Given the description of an element on the screen output the (x, y) to click on. 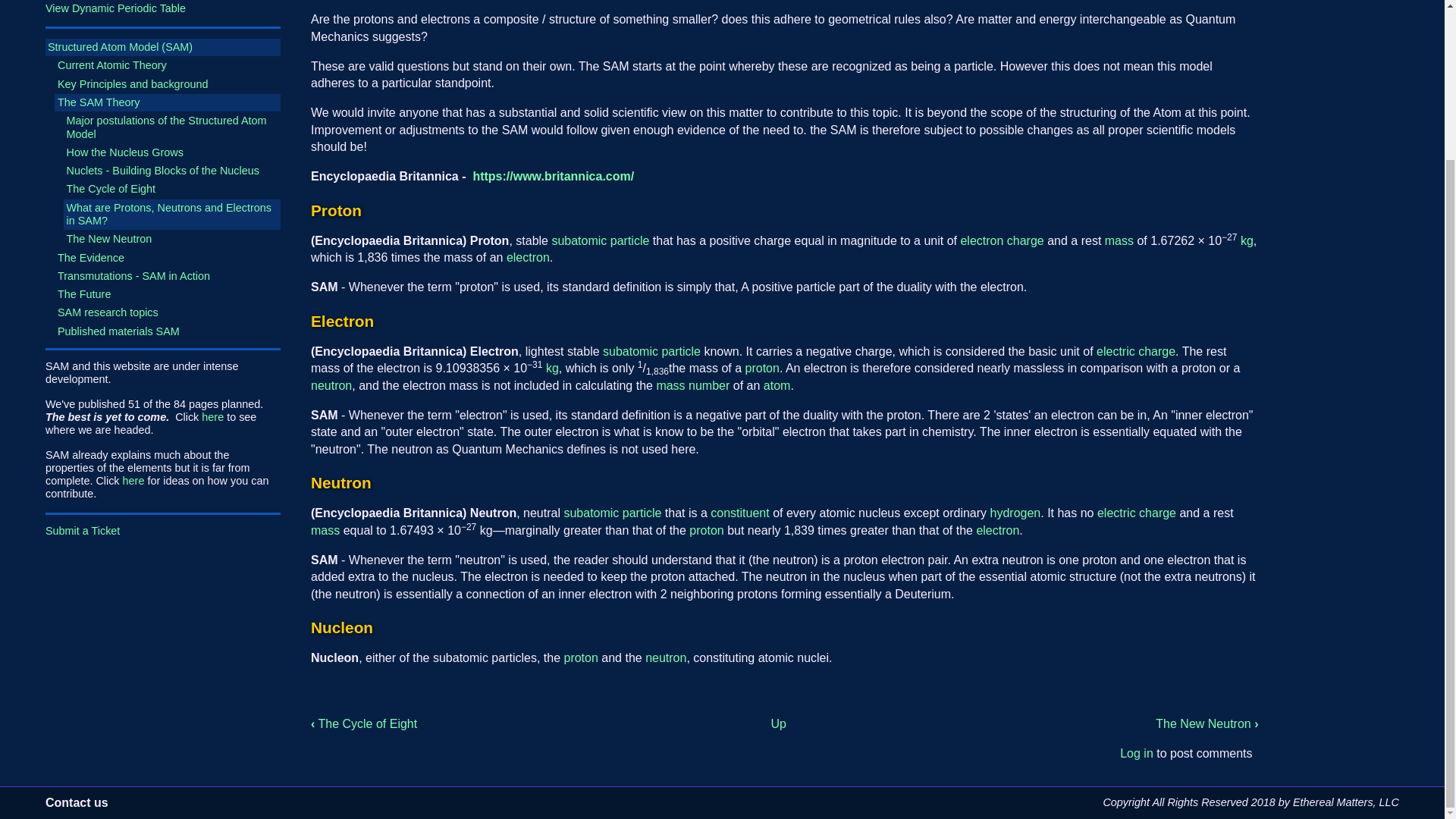
Current Atomic Theory (168, 65)
Nuclets - Building Blocks of the Nucleus (172, 170)
Go to next page (1206, 723)
Go to parent page (778, 723)
Major postulations of the Structured Atom Model (172, 127)
Key Principles and background (168, 84)
What are Protons, Neutrons and Electrons in SAM? (172, 214)
The New Neutron (172, 239)
Go to previous page (363, 723)
